Given the description of an element on the screen output the (x, y) to click on. 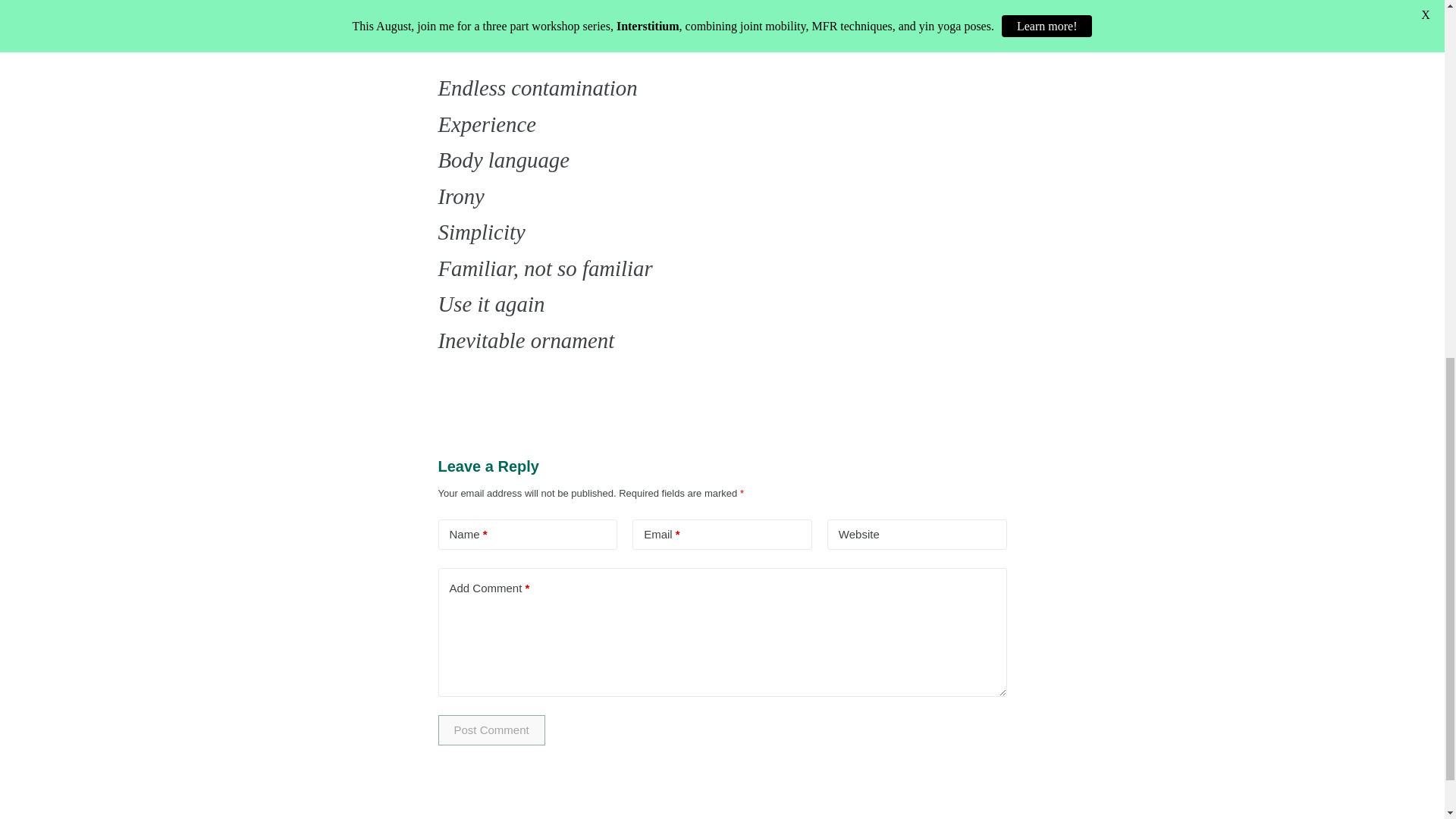
Post Comment (491, 729)
